Given the description of an element on the screen output the (x, y) to click on. 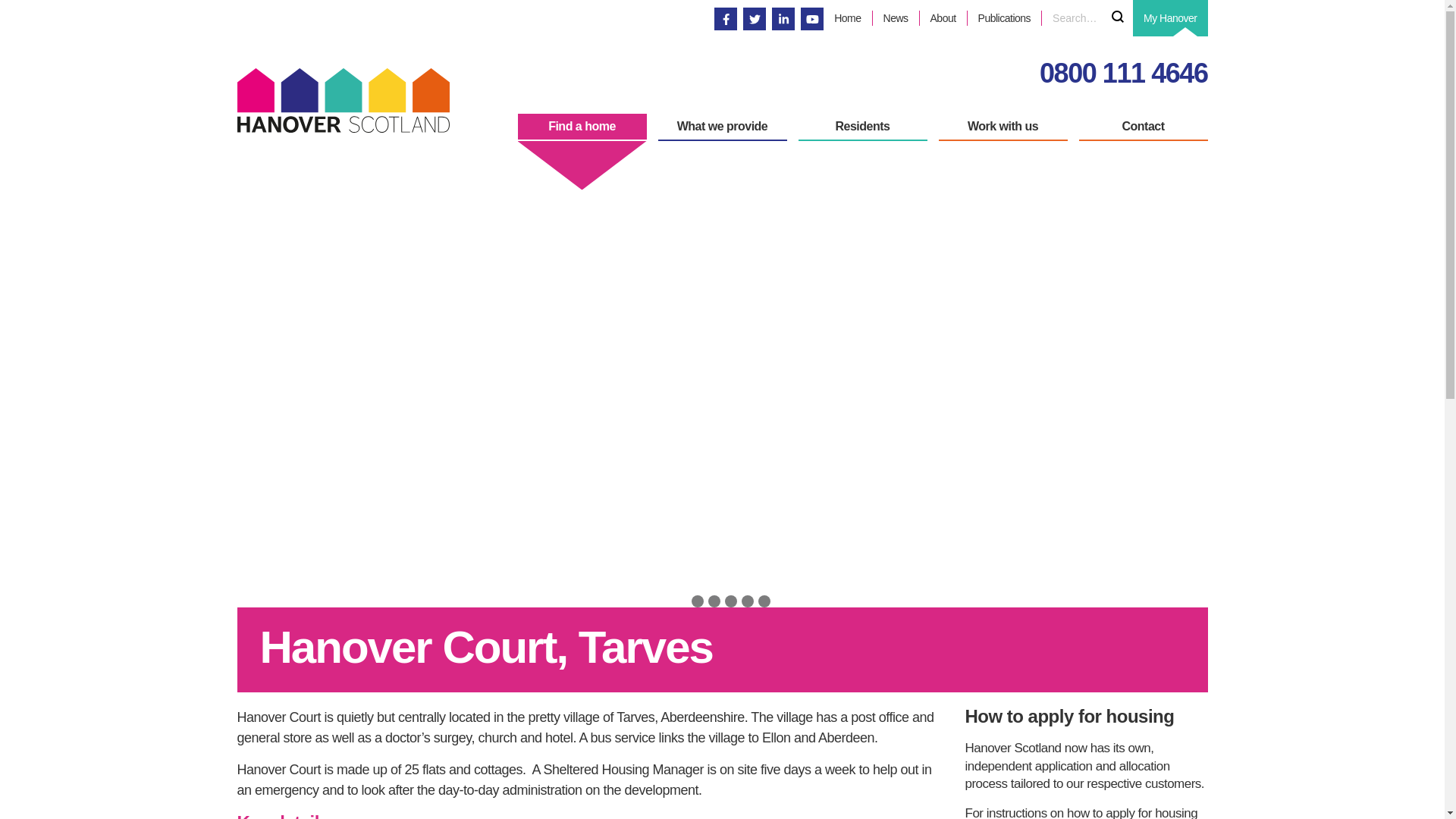
Search for (1087, 18)
LinkedIn (782, 18)
Find a home (581, 126)
Contact (1142, 126)
1 (681, 601)
News (895, 18)
4 (730, 601)
Residents (861, 126)
0800 111 4646 (1123, 72)
Twitter (754, 19)
